Given the description of an element on the screen output the (x, y) to click on. 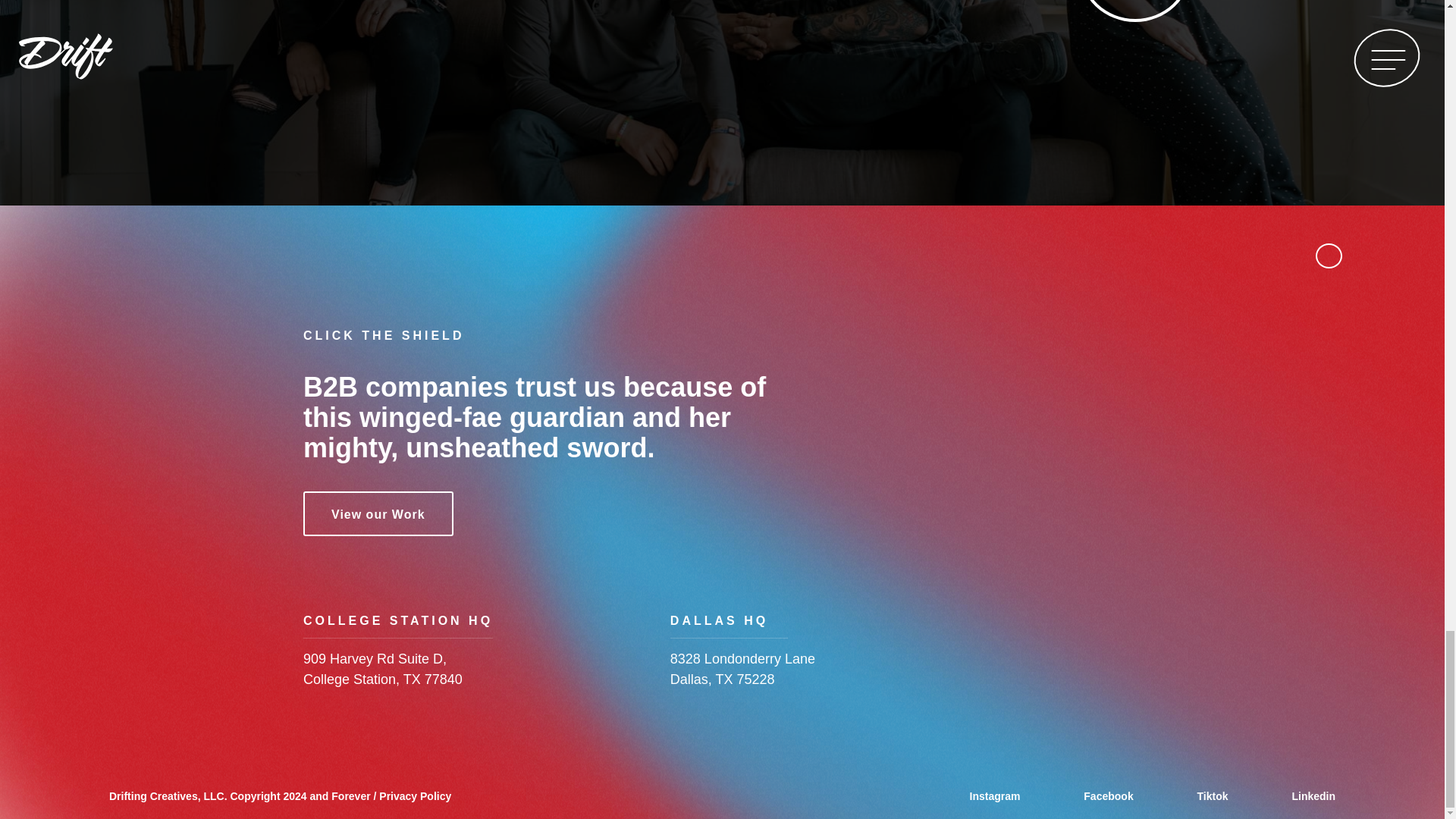
View our Work (377, 513)
Privacy Policy (414, 796)
Facebook (1107, 796)
Linkedin (1297, 796)
Tiktok (1213, 796)
Instagram (1009, 796)
